Given the description of an element on the screen output the (x, y) to click on. 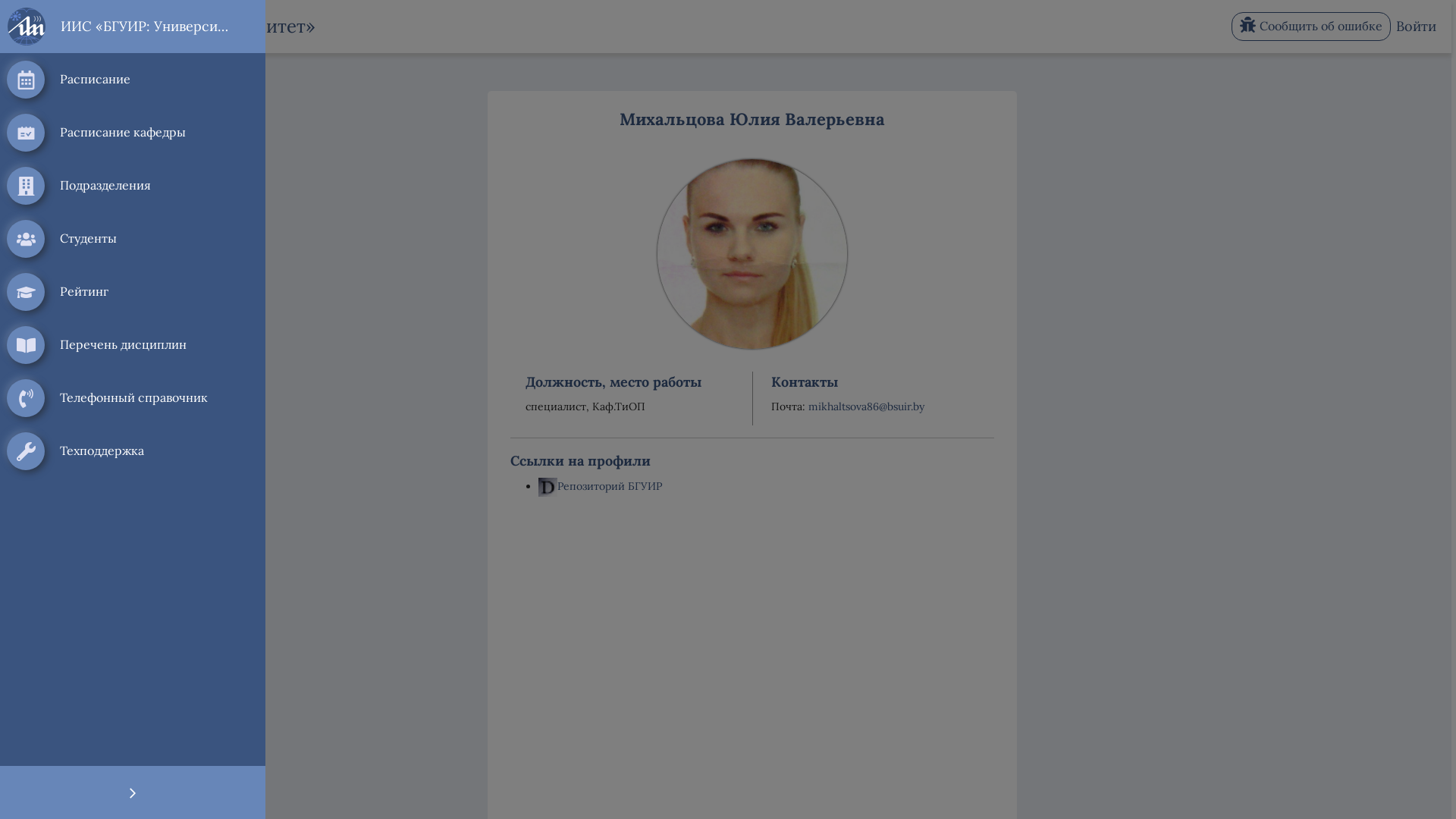
mikhaltsova86@bsuir.by Element type: text (866, 406)
